Given the description of an element on the screen output the (x, y) to click on. 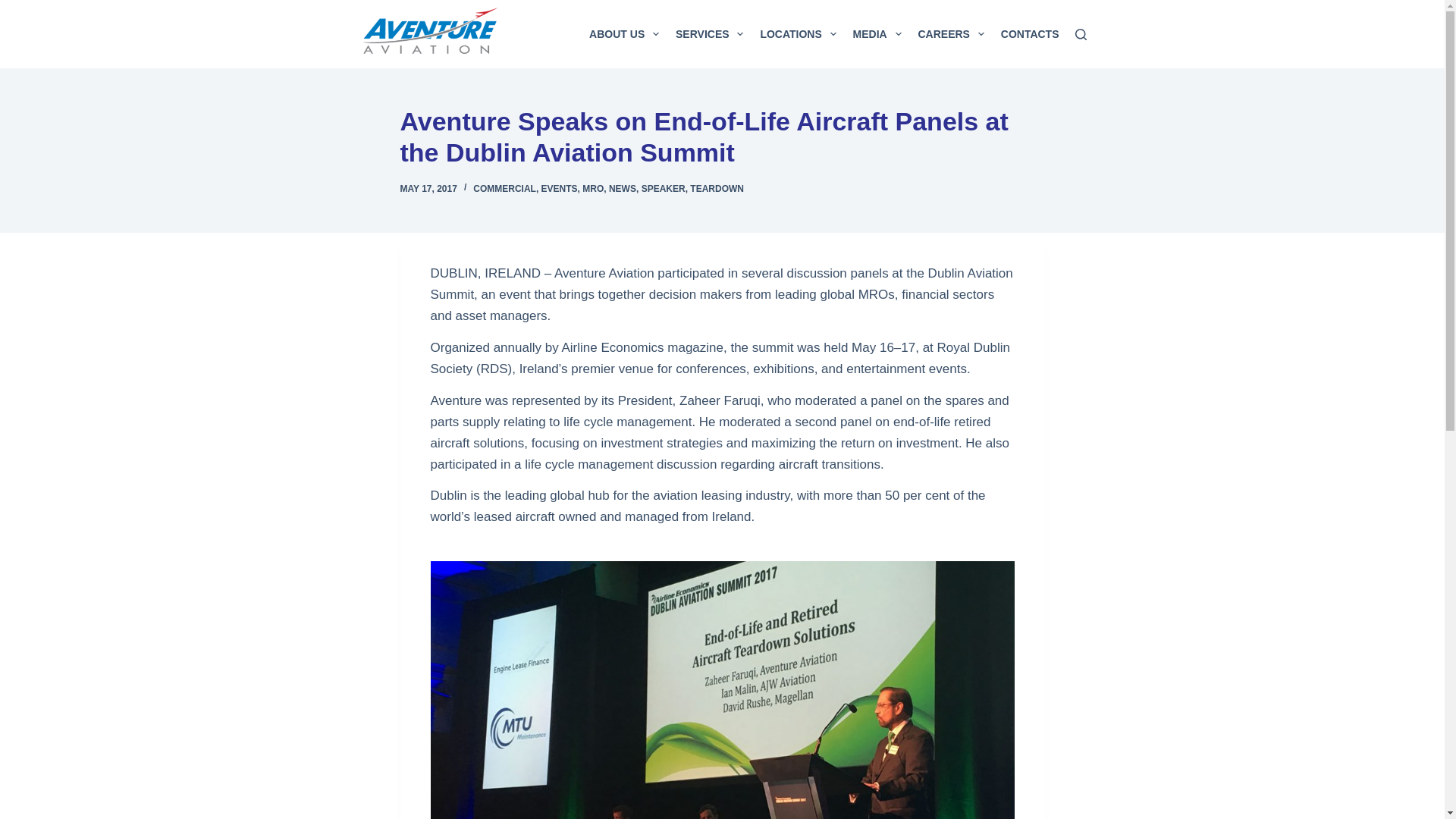
ABOUT US (623, 33)
Skip to content (15, 7)
